Given the description of an element on the screen output the (x, y) to click on. 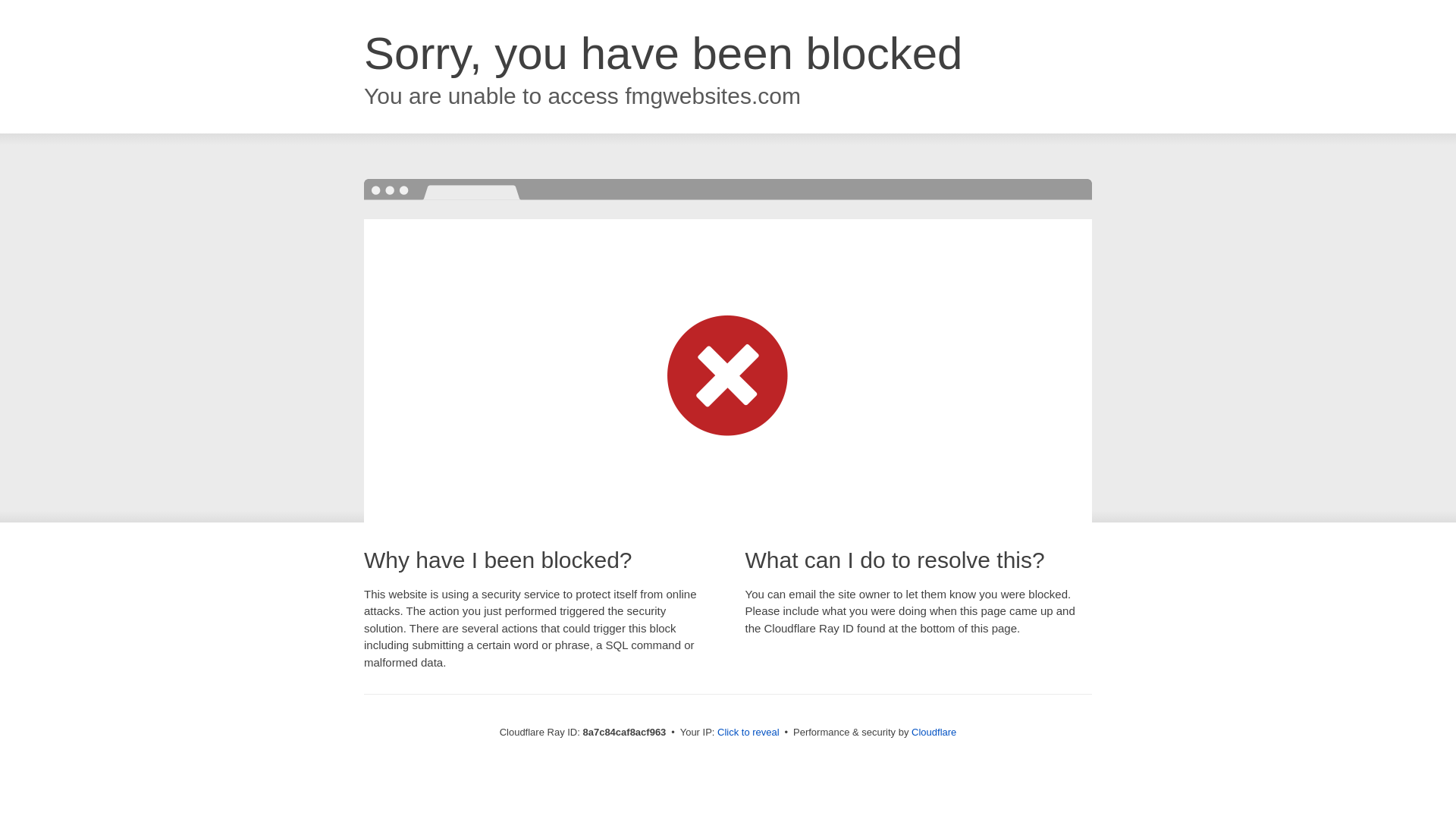
Click to reveal (747, 732)
Cloudflare (933, 731)
